Given the description of an element on the screen output the (x, y) to click on. 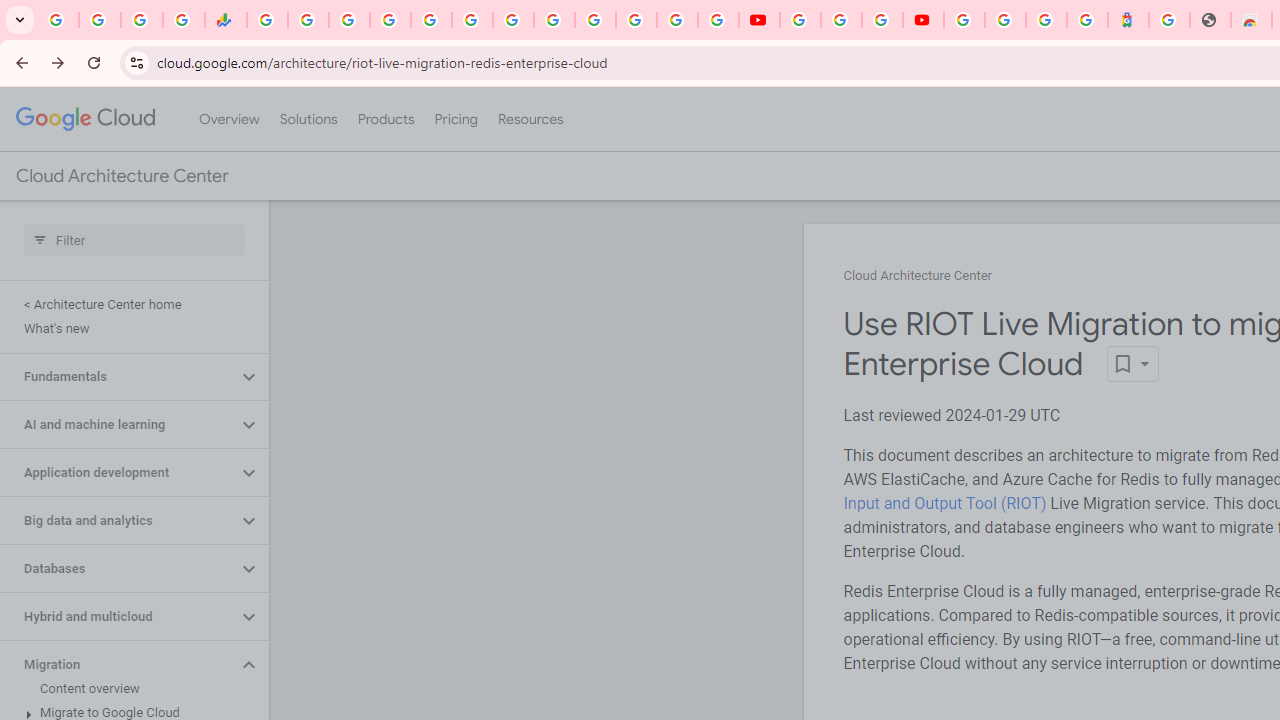
What's new (130, 328)
Sign in - Google Accounts (389, 20)
Sign in - Google Accounts (594, 20)
Privacy Checkup (717, 20)
< Architecture Center home (130, 304)
Products (385, 119)
Open dropdown (1131, 364)
